Given the description of an element on the screen output the (x, y) to click on. 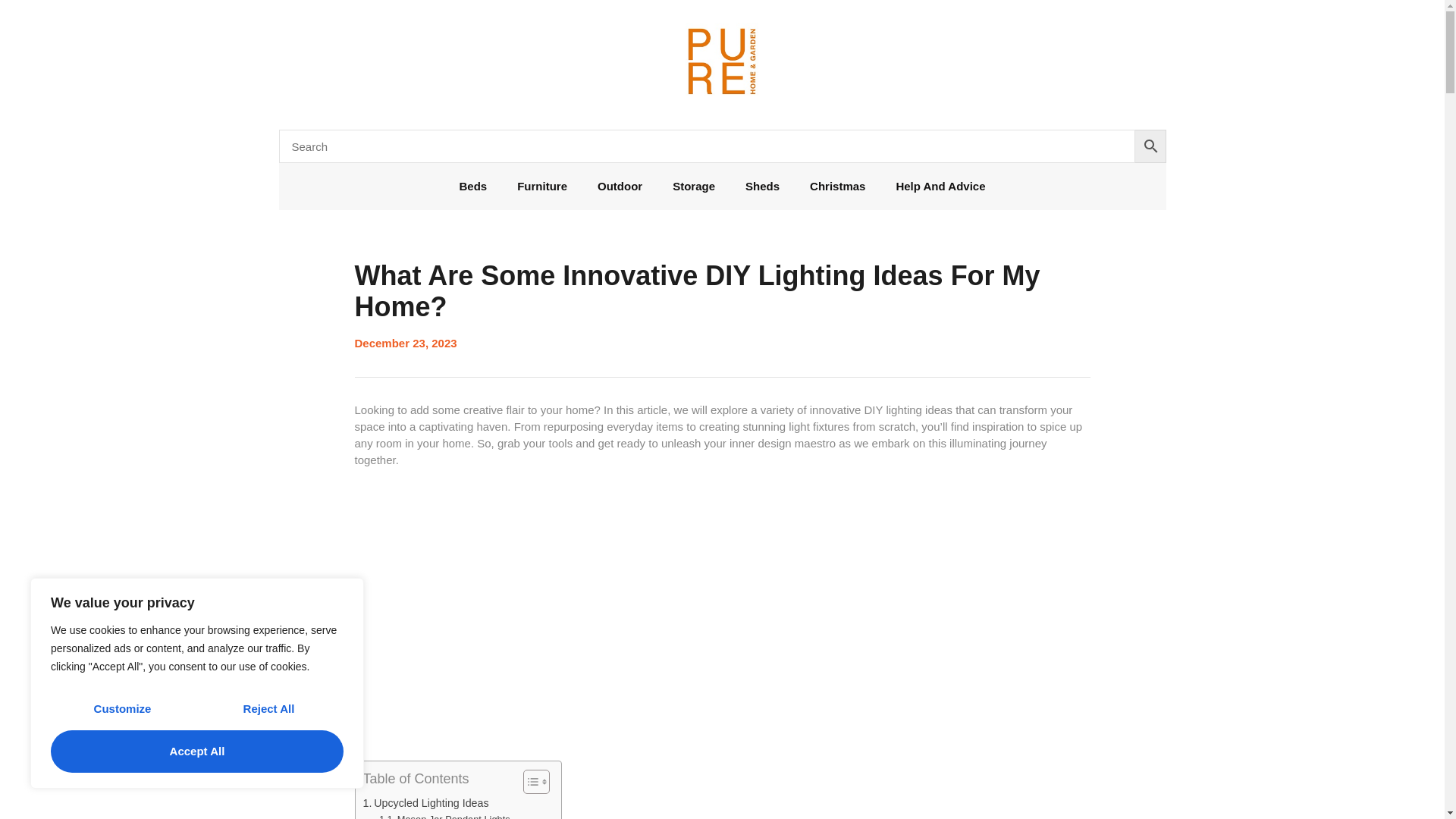
Accept All (196, 751)
Beds (473, 186)
Mason Jar Pendant Lights (444, 815)
Customize (121, 708)
Upcycled Lighting Ideas (424, 803)
Reject All (268, 708)
Furniture (542, 186)
Outdoor (620, 186)
